Given the description of an element on the screen output the (x, y) to click on. 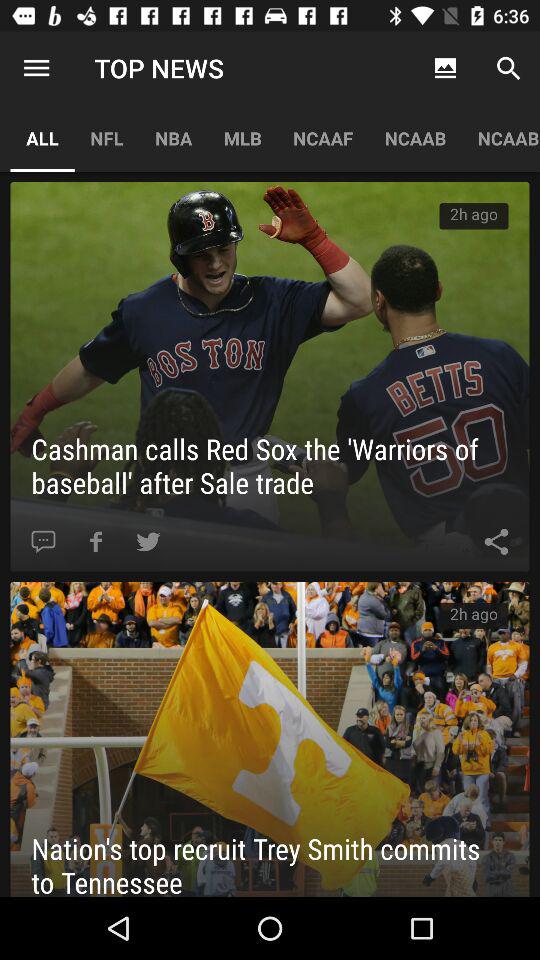
jump to the nba item (173, 138)
